Given the description of an element on the screen output the (x, y) to click on. 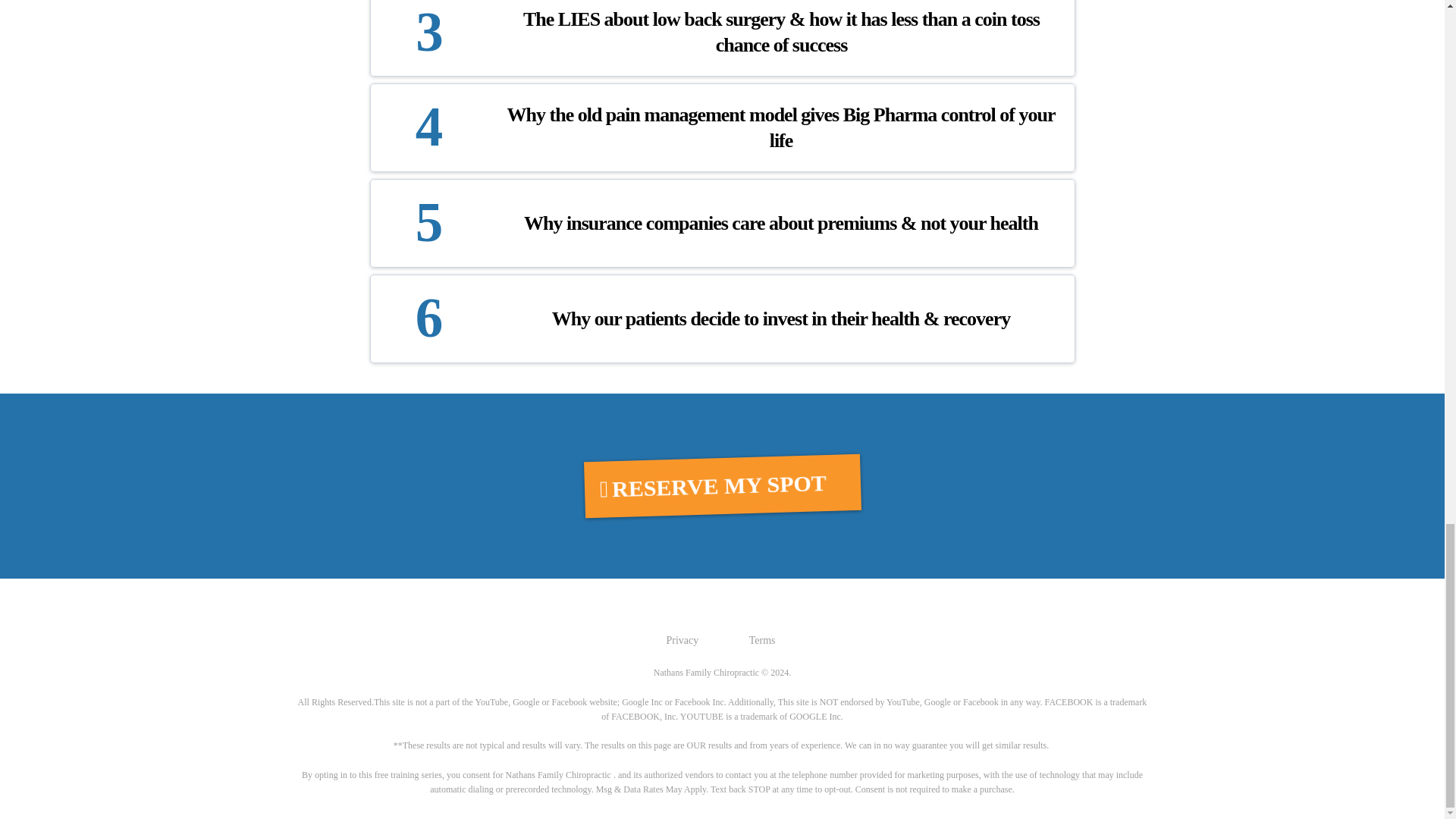
Privacy (681, 640)
Terms (762, 640)
RESERVE MY SPOT (722, 485)
